Given the description of an element on the screen output the (x, y) to click on. 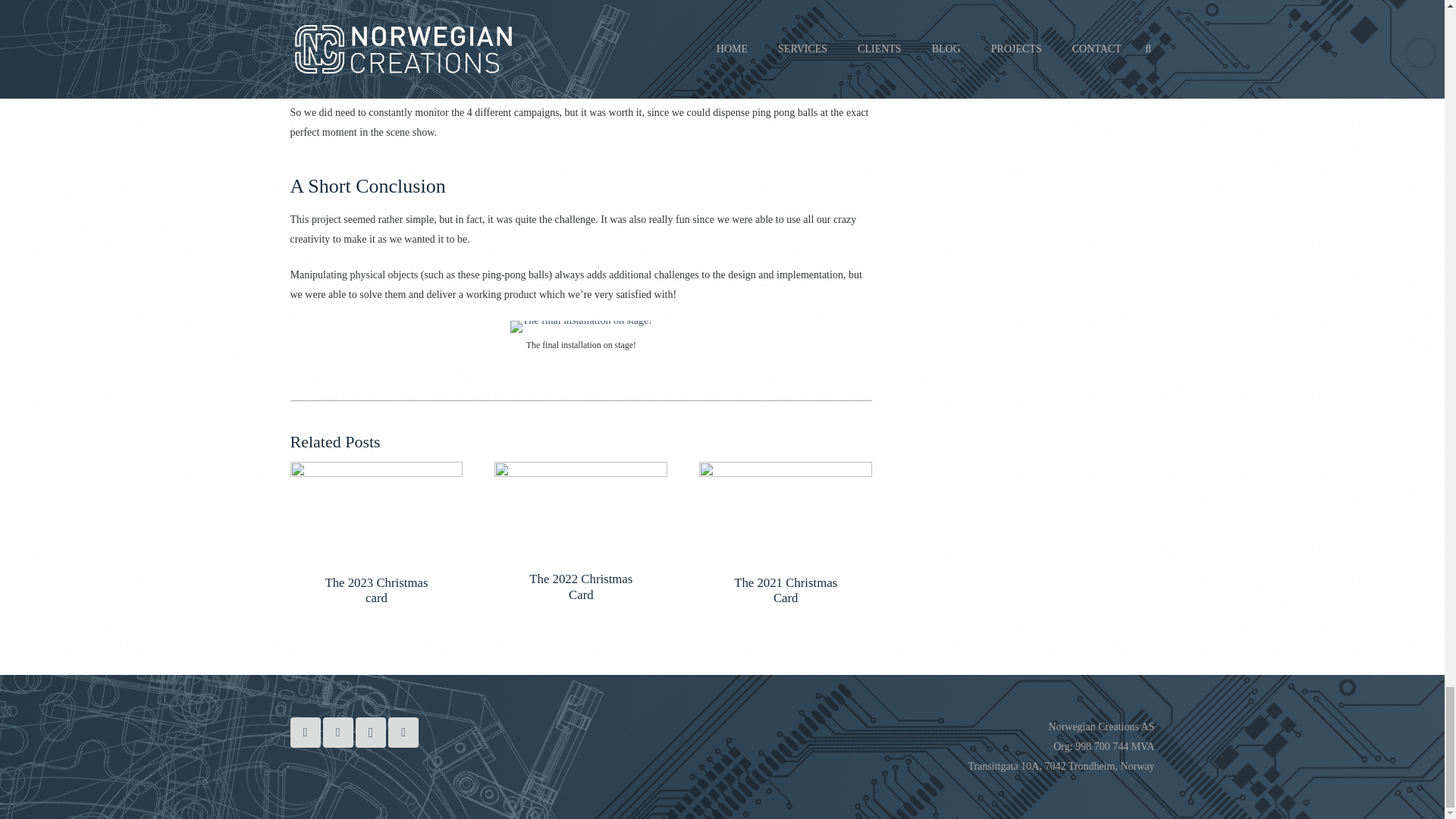
RSS (403, 732)
The 2022 Christmas Card (580, 586)
YouTube (338, 732)
Instagram (370, 732)
The 2023 Christmas card (376, 590)
The 2021 Christmas Card (785, 590)
Facebook (304, 732)
